Given the description of an element on the screen output the (x, y) to click on. 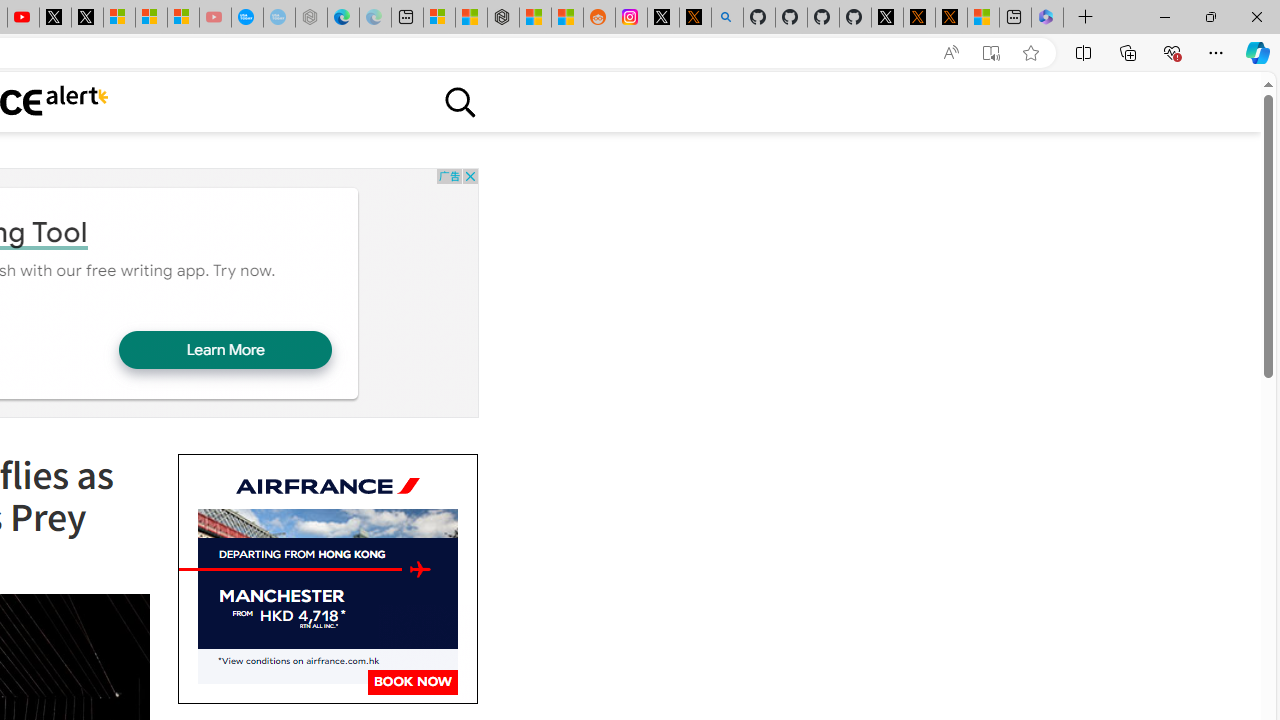
github - Search (727, 17)
Login | Microsoft 365 (1047, 17)
Gloom - YouTube - Sleeping (215, 17)
Nordace - Nordace has arrived Hong Kong - Sleeping (310, 17)
